Given the description of an element on the screen output the (x, y) to click on. 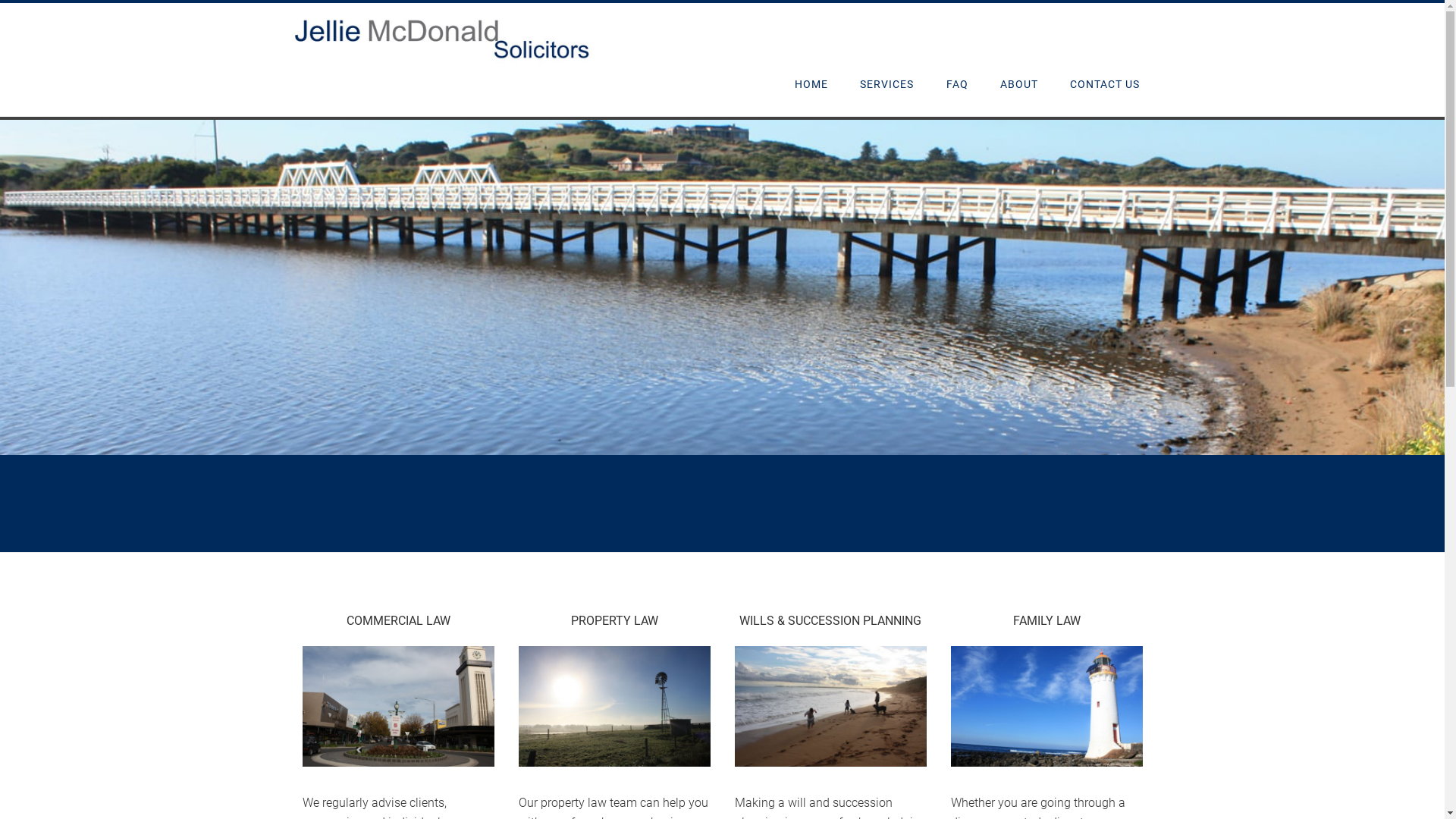
ABOUT Element type: text (1018, 84)
Jellie McDonald Element type: hover (441, 55)
CONTACT US Element type: text (1104, 84)
SERVICES Element type: text (886, 84)
FAQ Element type: text (956, 84)
HOME Element type: text (811, 84)
